Given the description of an element on the screen output the (x, y) to click on. 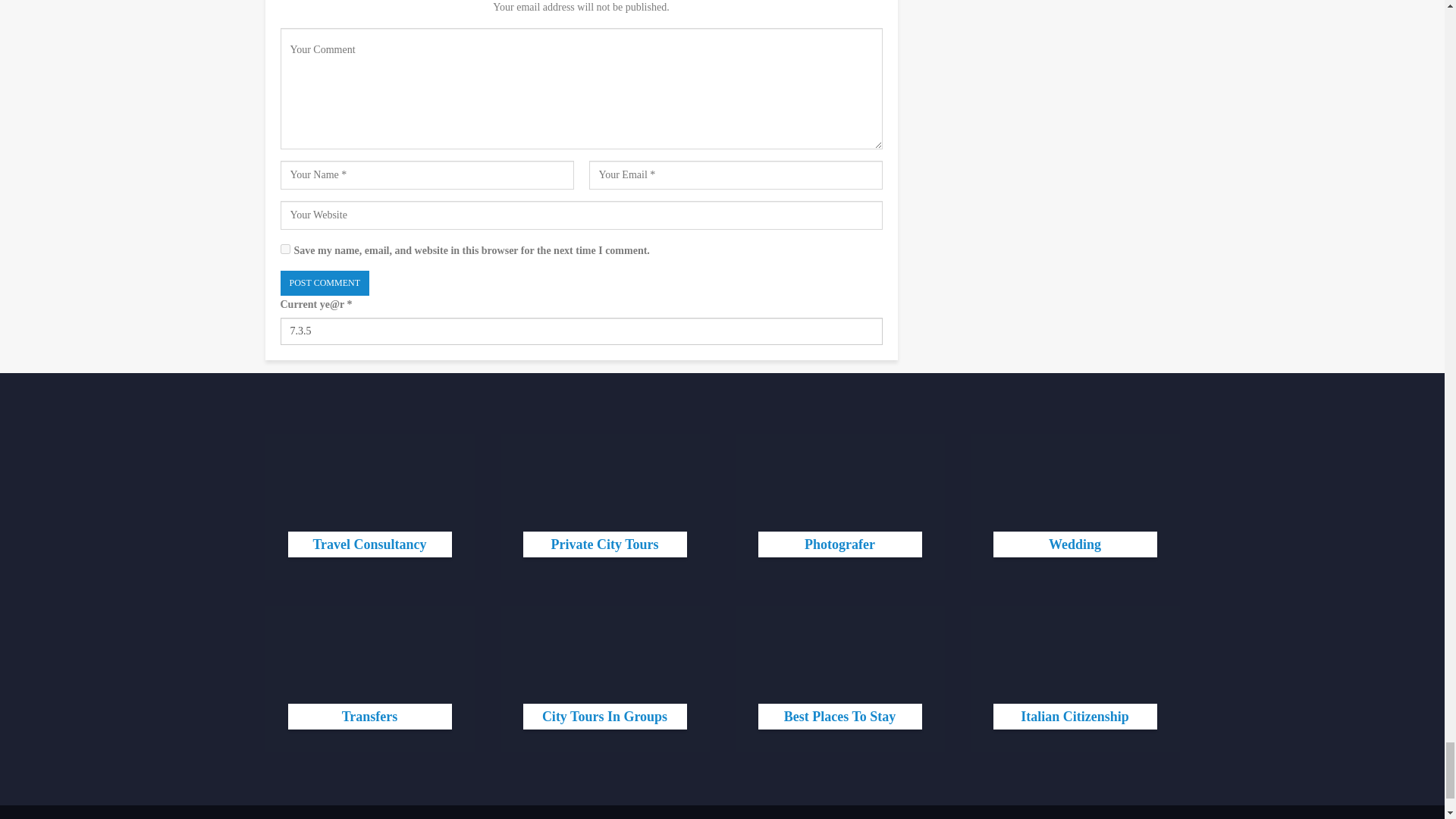
Post Comment (325, 283)
yes (285, 248)
7.3.5 (581, 330)
